Given the description of an element on the screen output the (x, y) to click on. 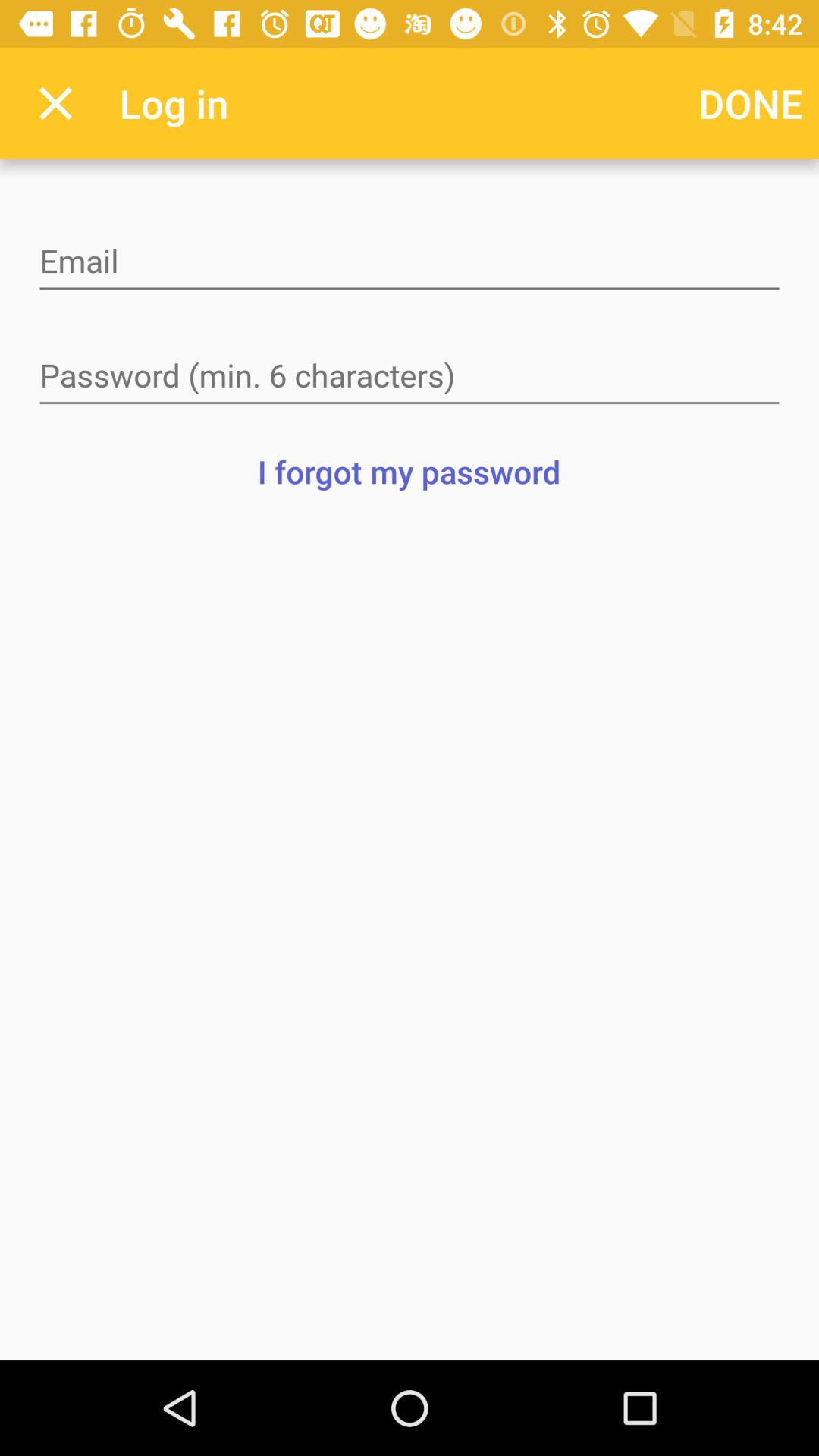
launch the done item (750, 103)
